Given the description of an element on the screen output the (x, y) to click on. 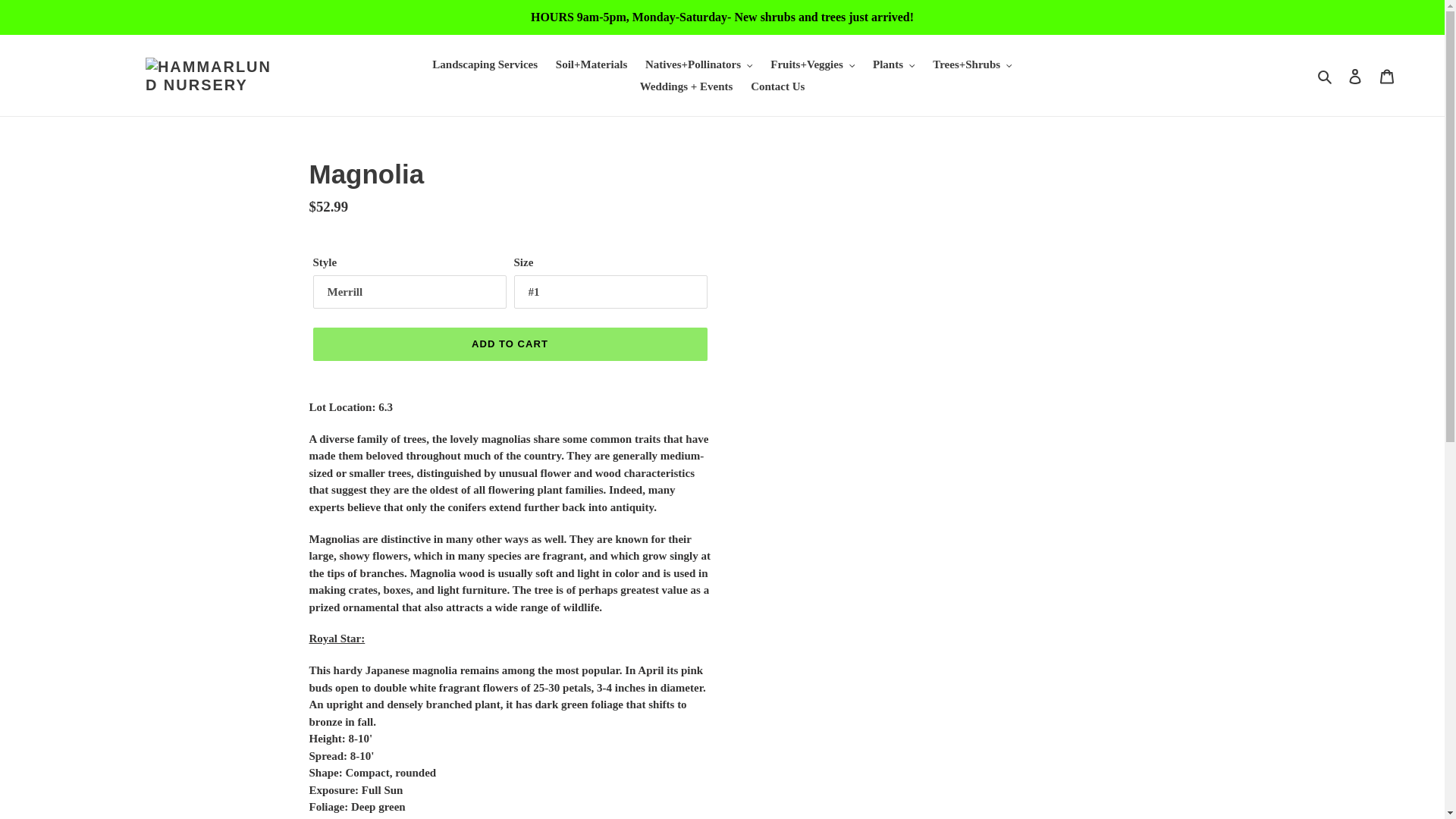
Search (1326, 75)
Landscaping Services (484, 65)
Cart (1387, 74)
Log in (1355, 74)
Contact Us (777, 86)
Plants (893, 65)
